Given the description of an element on the screen output the (x, y) to click on. 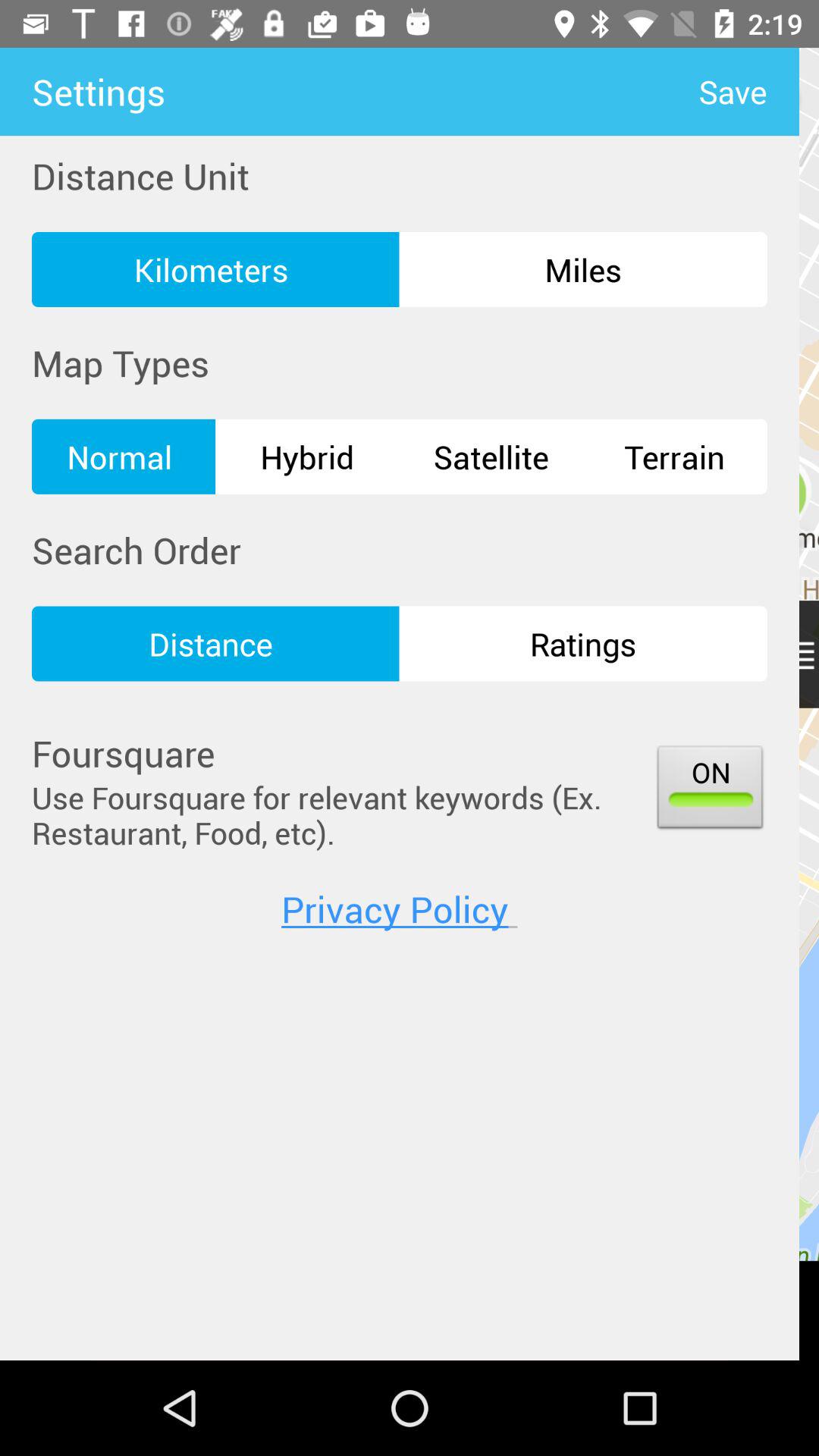
press the icon next to the satellite icon (307, 456)
